Given the description of an element on the screen output the (x, y) to click on. 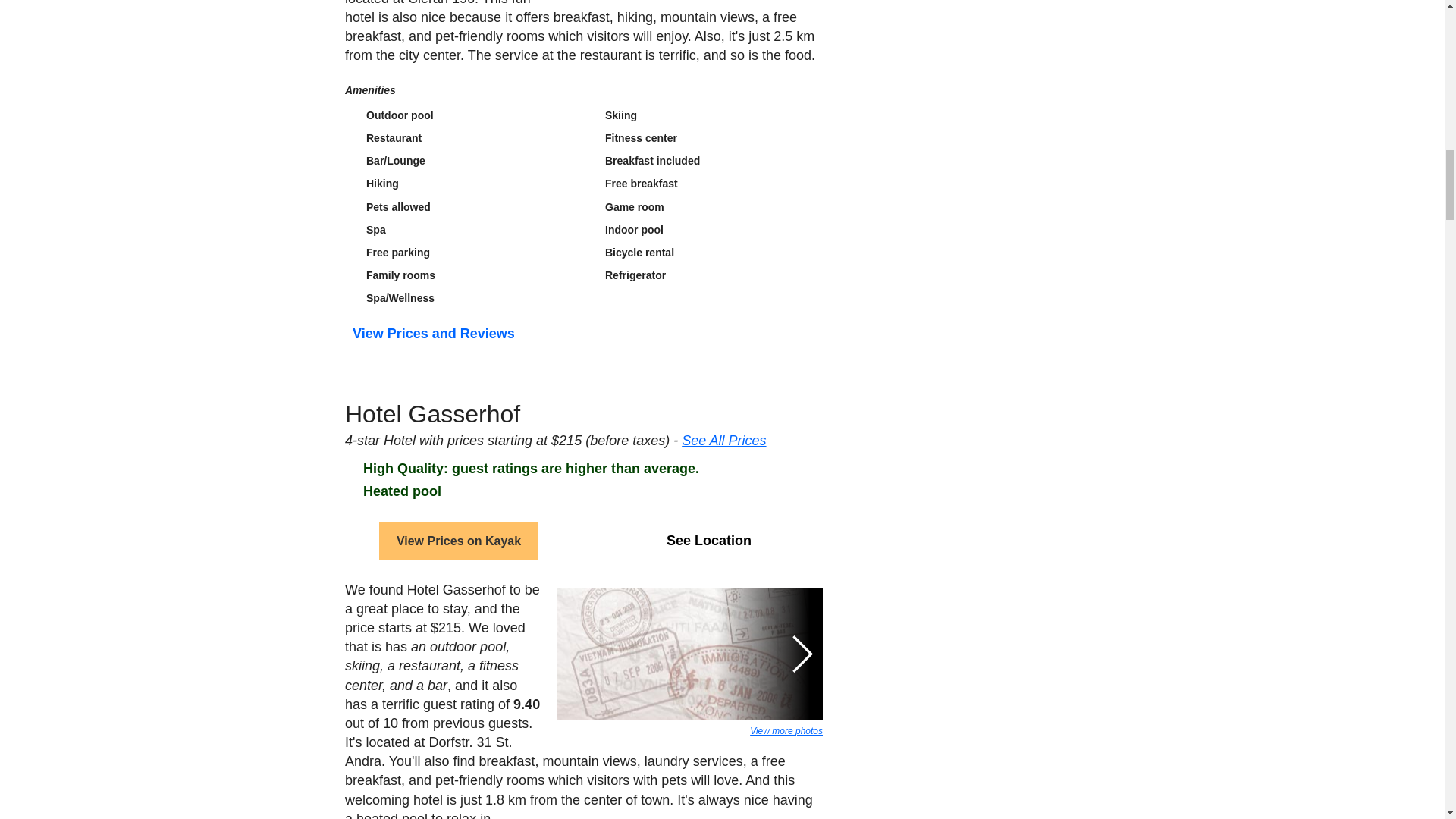
View more photos (785, 733)
Hotel Gasserhof (431, 443)
See Location (708, 543)
See All Prices (723, 442)
View Prices and Reviews (432, 363)
View Prices on Kayak (458, 543)
